Given the description of an element on the screen output the (x, y) to click on. 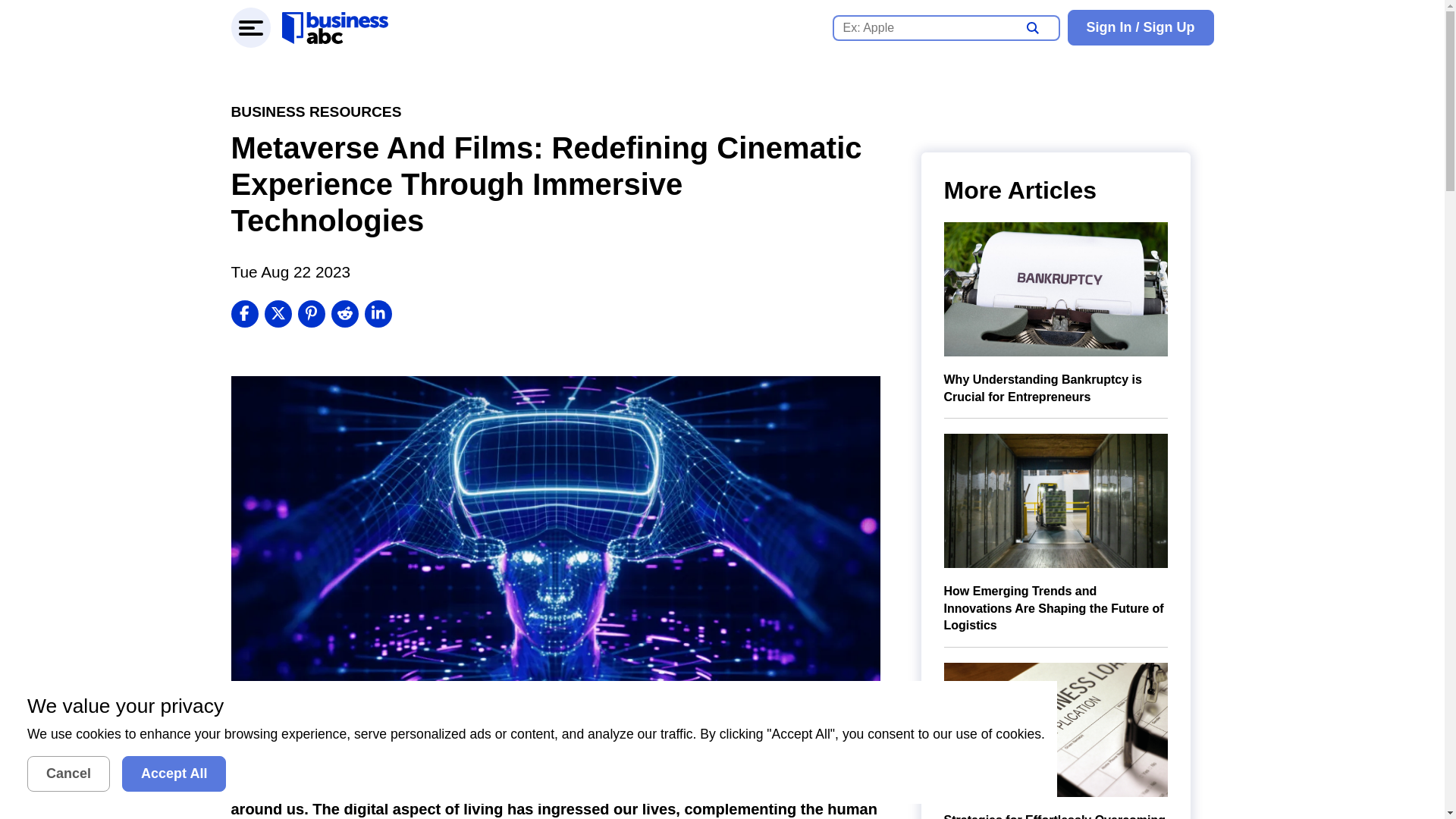
Accept All (173, 773)
Cancel (68, 773)
Why Understanding Bankruptcy is Crucial for Entrepreneurs (1055, 313)
